Given the description of an element on the screen output the (x, y) to click on. 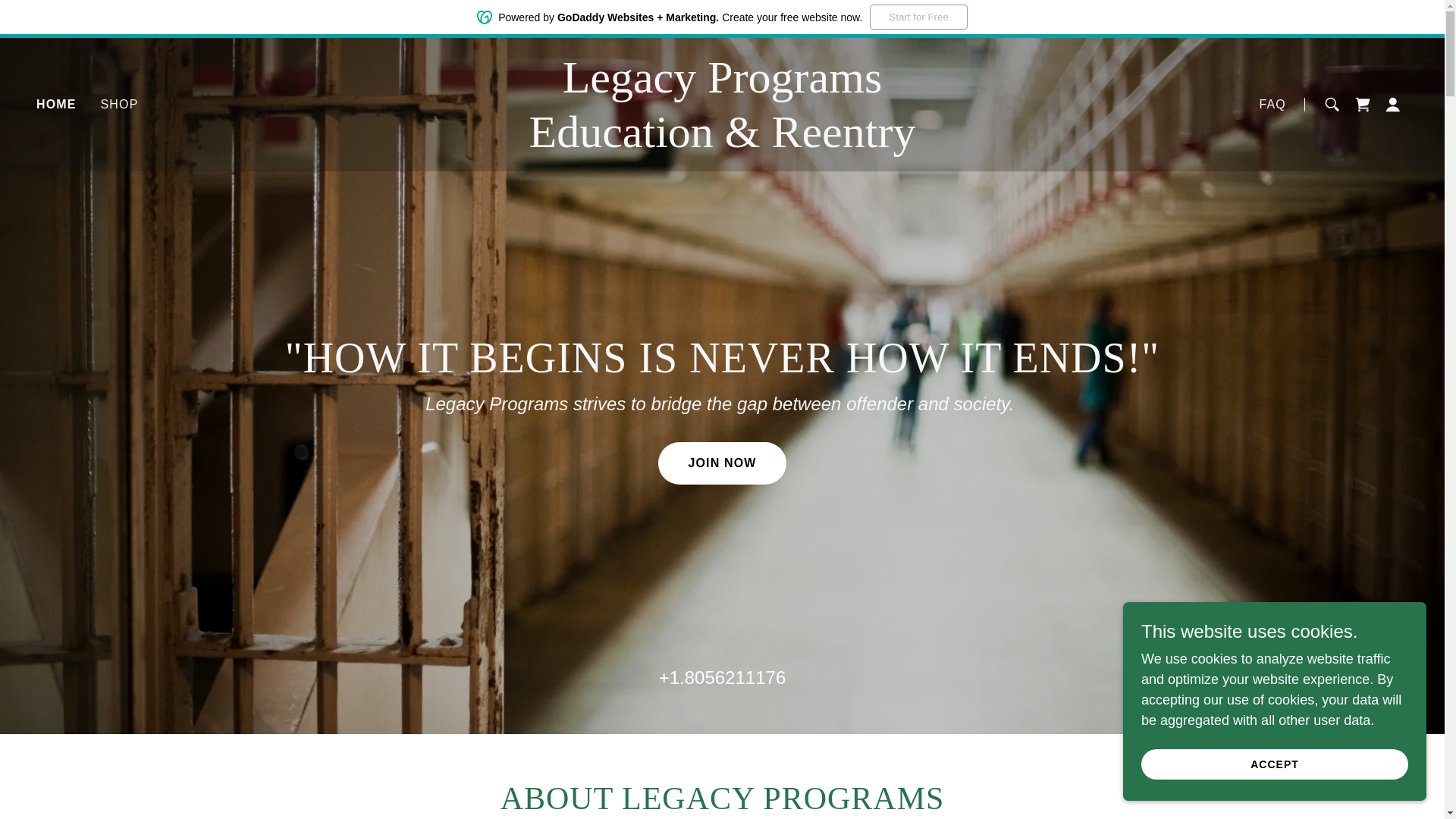
JOIN NOW (722, 463)
SHOP (119, 103)
HOME (56, 104)
FAQ (1272, 103)
